Given the description of an element on the screen output the (x, y) to click on. 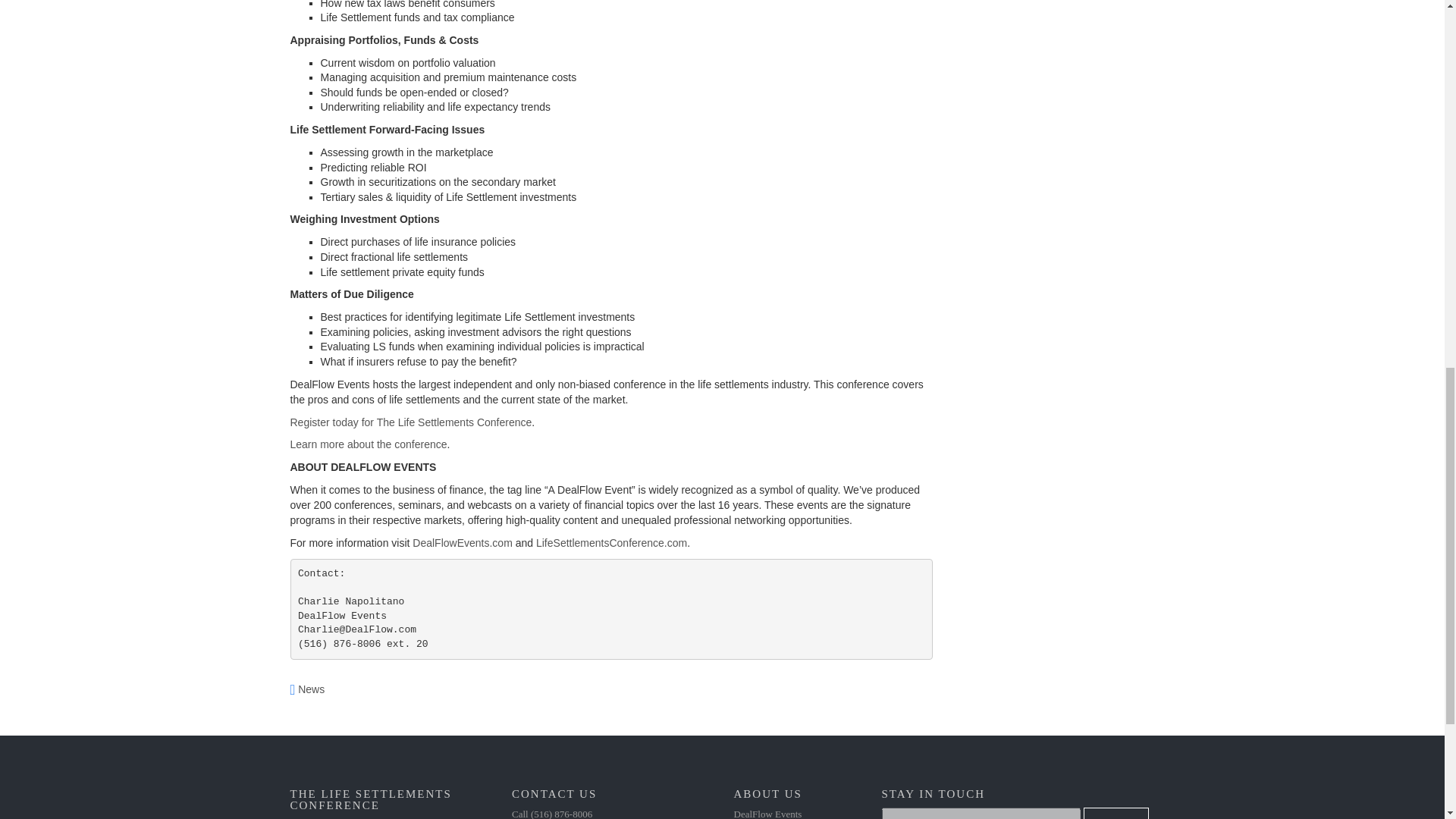
Learn more about the conference (367, 444)
News (311, 689)
DealFlowEvents.com (462, 542)
LifeSettlementsConference.com (611, 542)
DealFlowEvents.com (462, 542)
LifeSettlementsConference.com (611, 542)
Register today for The Life Settlements Conference (410, 421)
Learn more about the conference (367, 444)
Register today for The Life Settlements Conference (410, 421)
DealFlow Events (767, 813)
Sign up (1115, 813)
Sign up (1115, 813)
